Given the description of an element on the screen output the (x, y) to click on. 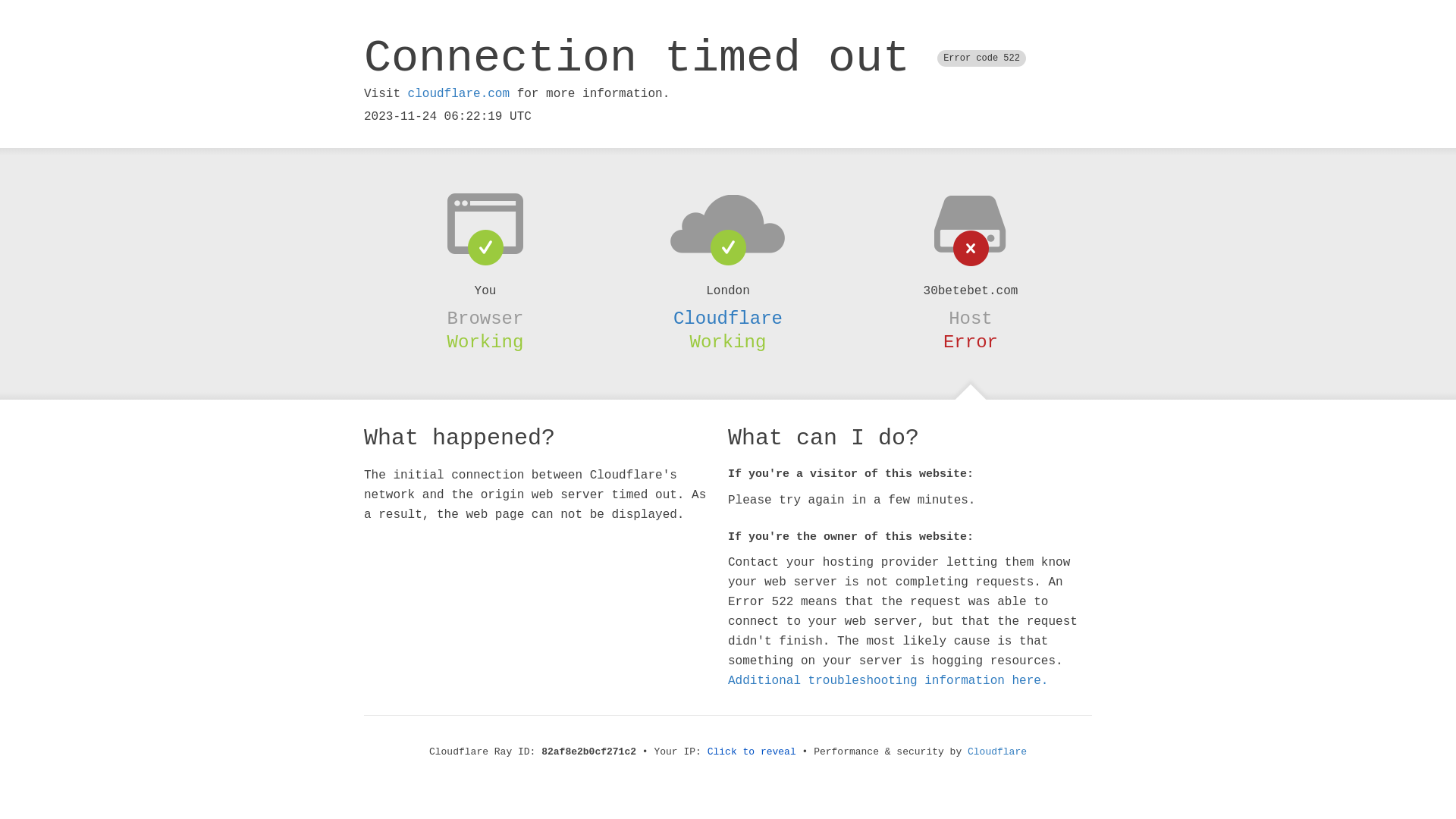
cloudflare.com Element type: text (458, 93)
Additional troubleshooting information here. Element type: text (888, 680)
Cloudflare Element type: text (727, 318)
Cloudflare Element type: text (996, 751)
Click to reveal Element type: text (751, 751)
